Given the description of an element on the screen output the (x, y) to click on. 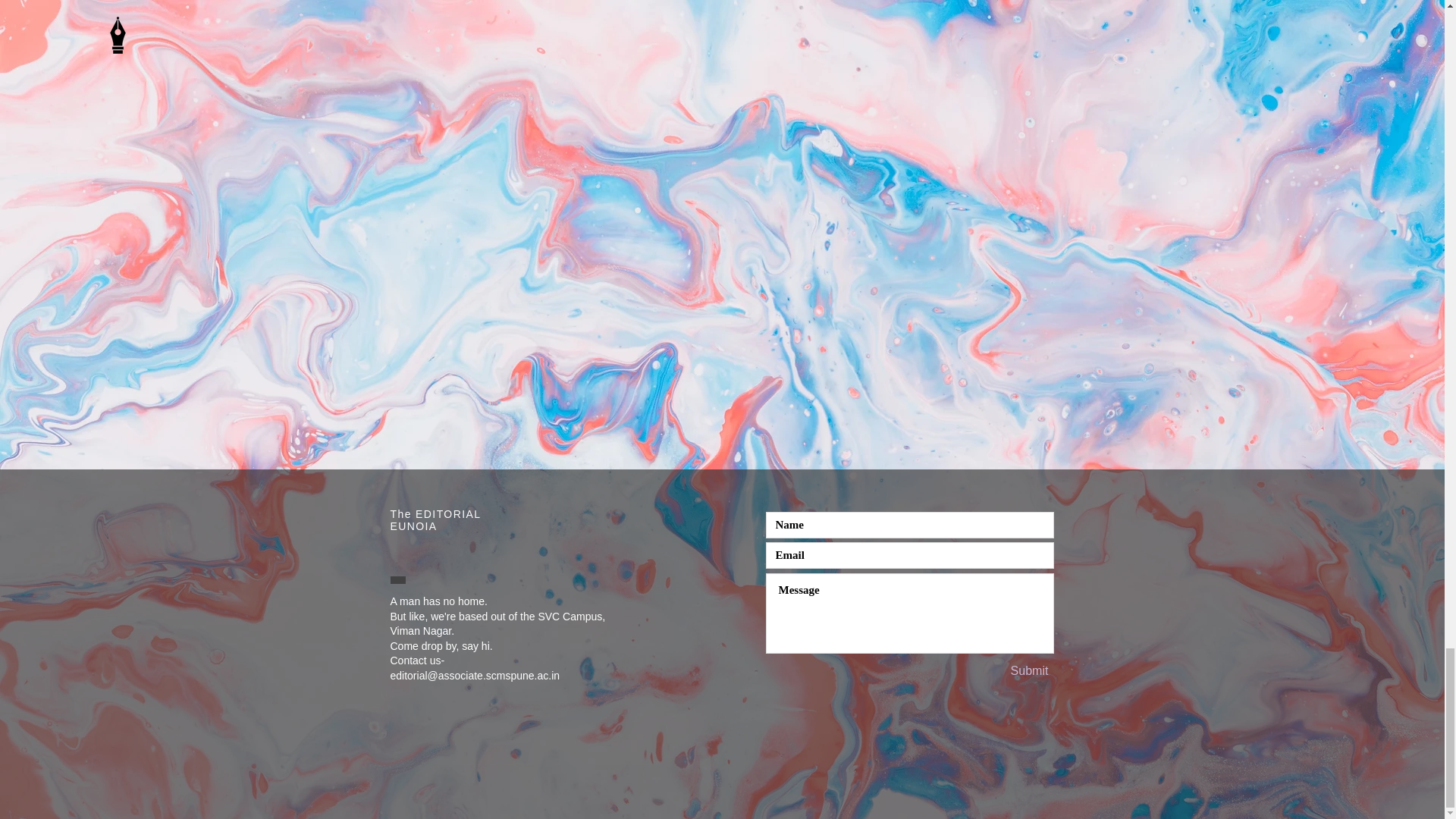
Submit (1029, 671)
